Given the description of an element on the screen output the (x, y) to click on. 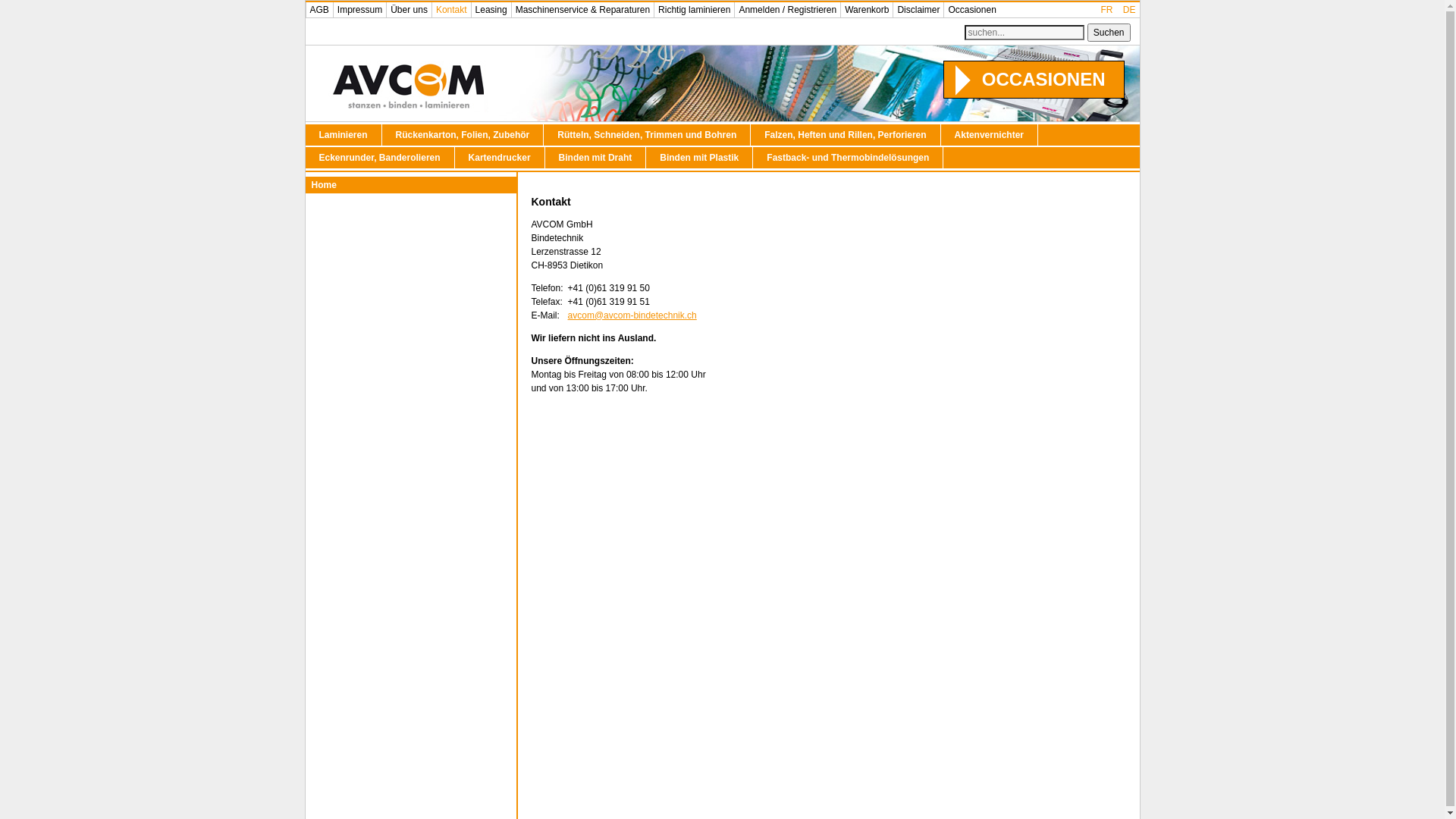
Disclaimer Element type: text (917, 9)
Kontakt Element type: text (450, 9)
Anmelden / Registrieren Element type: text (787, 9)
Binden mit Draht Element type: text (595, 157)
Kartendrucker Element type: text (500, 157)
Impressum Element type: text (358, 9)
DE Element type: text (1129, 9)
Occasionen Element type: text (971, 9)
Laminieren Element type: text (342, 134)
Binden mit Plastik Element type: text (699, 157)
Eckenrunder, Banderolieren Element type: text (379, 157)
FR Element type: text (1107, 9)
avcom@avcom-bindetechnik.ch Element type: text (631, 315)
Suchen Element type: text (1108, 32)
AGB Element type: text (318, 9)
Richtig laminieren Element type: text (693, 9)
Maschinenservice & Reparaturen Element type: text (582, 9)
Warenkorb Element type: text (866, 9)
Aktenvernichter Element type: text (989, 134)
Falzen, Heften und Rillen, Perforieren Element type: text (845, 134)
Home Element type: text (409, 184)
Leasing Element type: text (490, 9)
